Given the description of an element on the screen output the (x, y) to click on. 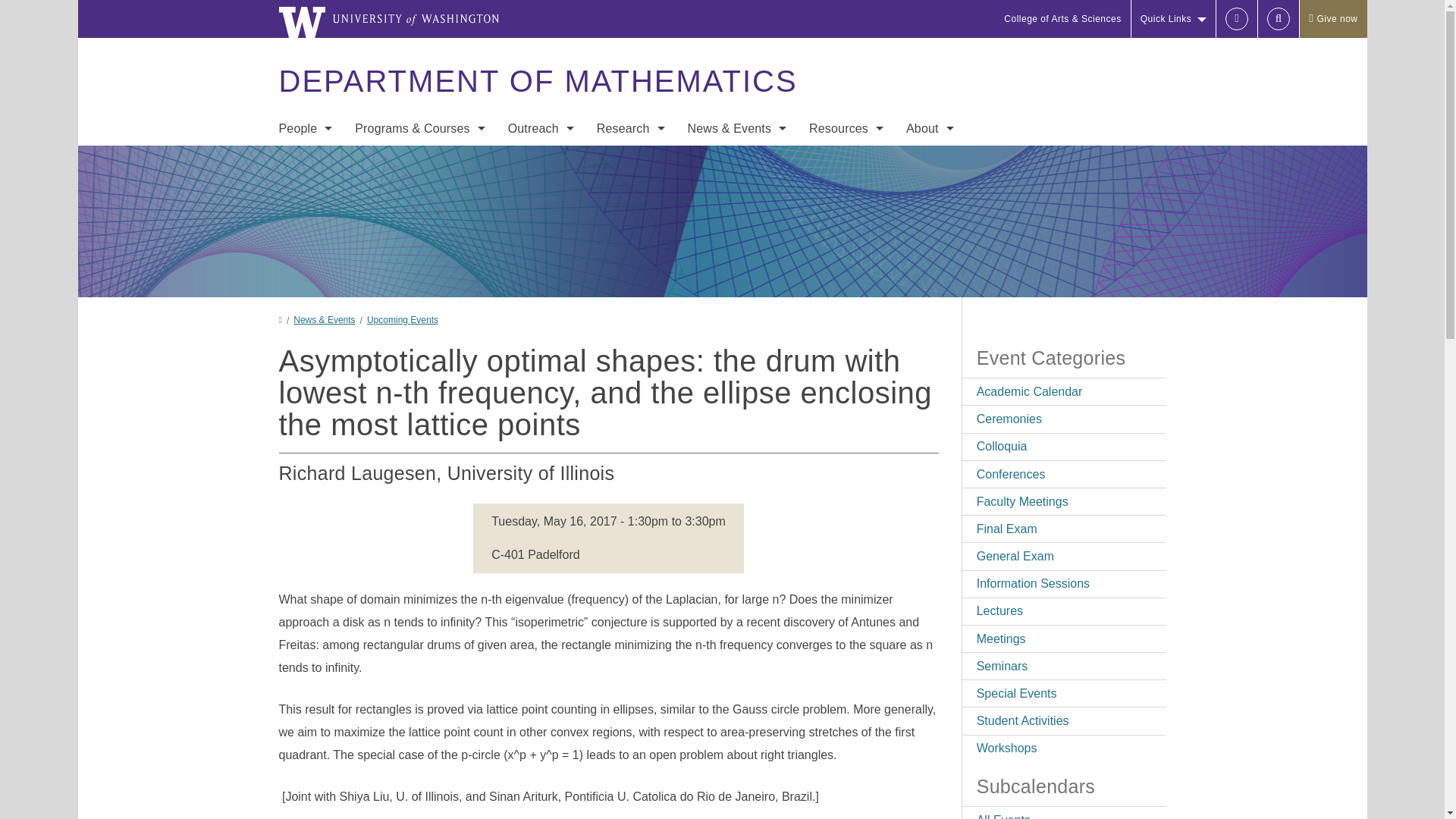
People (304, 128)
Math Tutors (304, 312)
Department of Mathematics Home (537, 81)
Undergraduate (419, 160)
Graduate (419, 191)
Quick Links (1173, 18)
Teaching Assistants (304, 281)
Alumni (304, 342)
Full Directory (304, 160)
Graduate Students (304, 251)
Staff (304, 221)
Faculty (304, 191)
DEPARTMENT OF MATHEMATICS (537, 81)
 Give now (1332, 18)
